Given the description of an element on the screen output the (x, y) to click on. 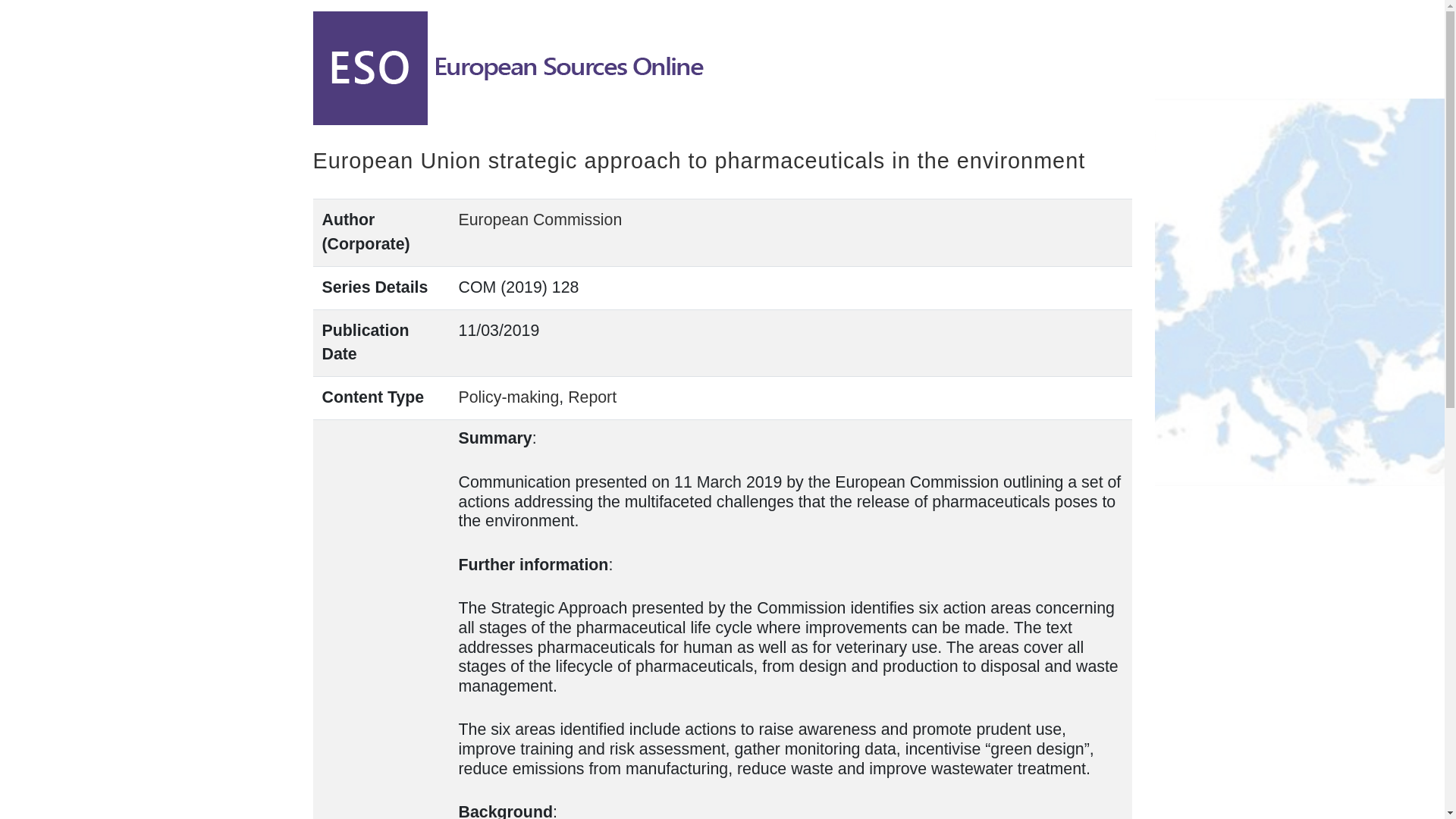
European Commission (540, 219)
Report (591, 397)
Policy-making (508, 397)
